Given the description of an element on the screen output the (x, y) to click on. 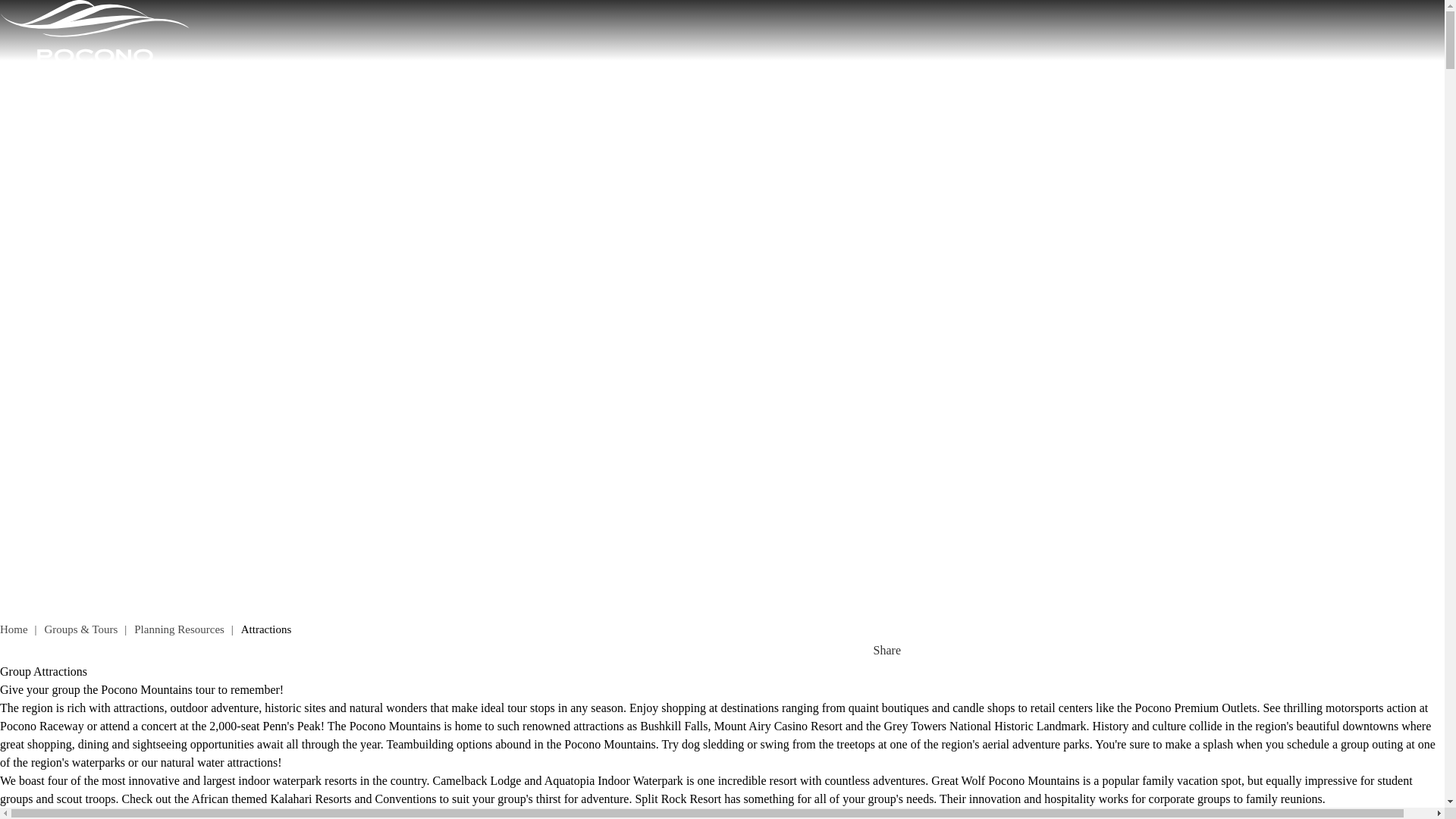
PLAN YOUR VACATION (1383, 114)
Pocono Premium Outlets (1196, 707)
Camelback Lodge and Aquatopia Indoor Waterpark (557, 780)
Waterparks (98, 762)
Mount Airy Casino Resort (778, 725)
Bushkill Falls (673, 725)
THINGS TO DO (935, 114)
Pocono Raceway (42, 725)
EVENTS (1281, 114)
Great Wolf Lodge Pocono Mountains (1004, 780)
